Given the description of an element on the screen output the (x, y) to click on. 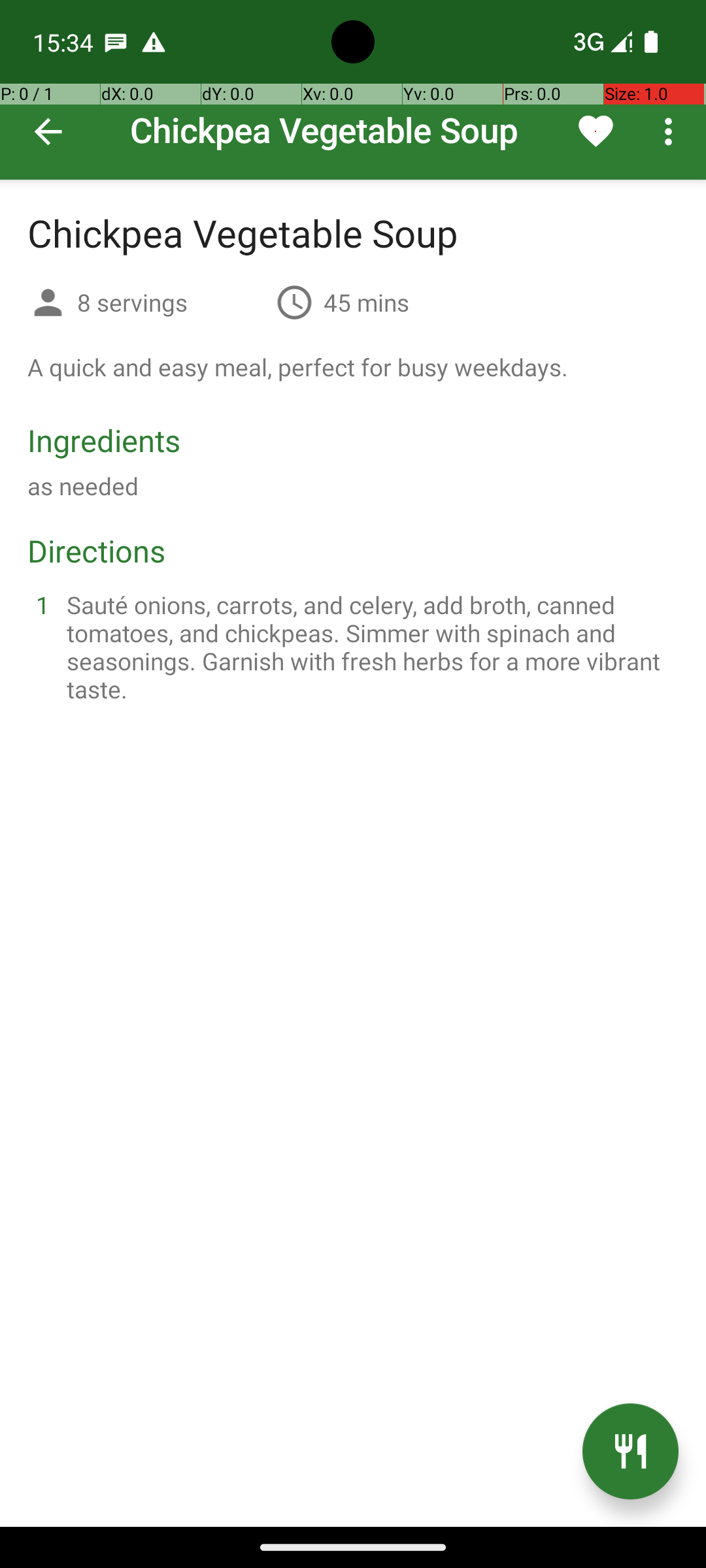
Chickpea Vegetable Soup Element type: android.widget.FrameLayout (353, 89)
45 mins Element type: android.widget.TextView (366, 301)
as needed Element type: android.widget.TextView (82, 485)
Sauté onions, carrots, and celery, add broth, canned tomatoes, and chickpeas. Simmer with spinach and seasonings. Garnish with fresh herbs for a more vibrant taste. Element type: android.widget.TextView (368, 646)
